Given the description of an element on the screen output the (x, y) to click on. 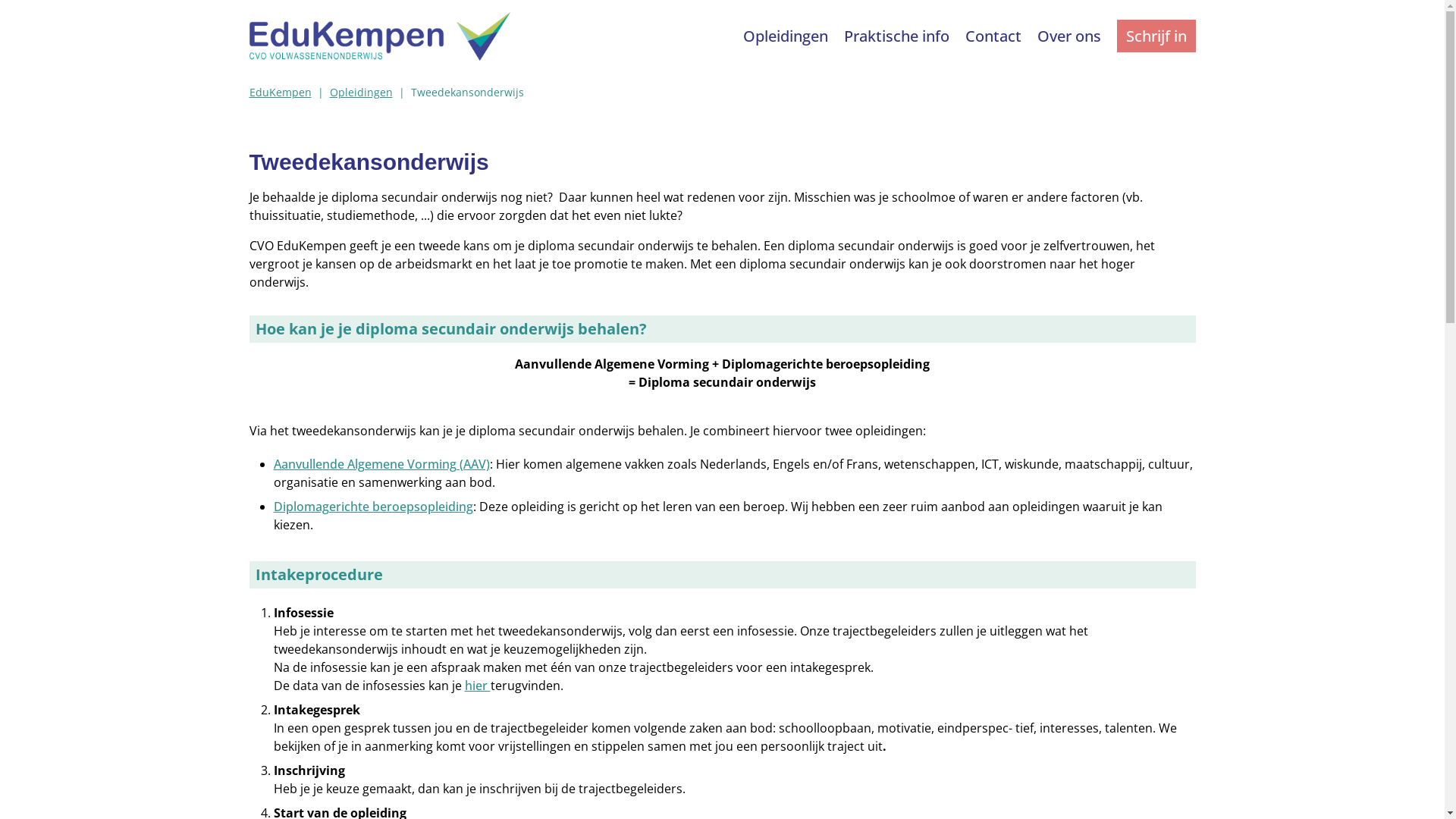
Over ons Element type: text (1070, 35)
Aanvullende Algemene Vorming (AAV) Element type: text (381, 463)
EduKempen Element type: text (279, 92)
Opleidingen Element type: text (360, 91)
Opleidingen Element type: text (787, 35)
Contact Element type: text (994, 35)
hier Element type: text (476, 685)
Schrijf in Element type: text (1155, 35)
Praktische info Element type: text (897, 35)
Diplomagerichte beroepsopleiding Element type: text (372, 506)
